Given the description of an element on the screen output the (x, y) to click on. 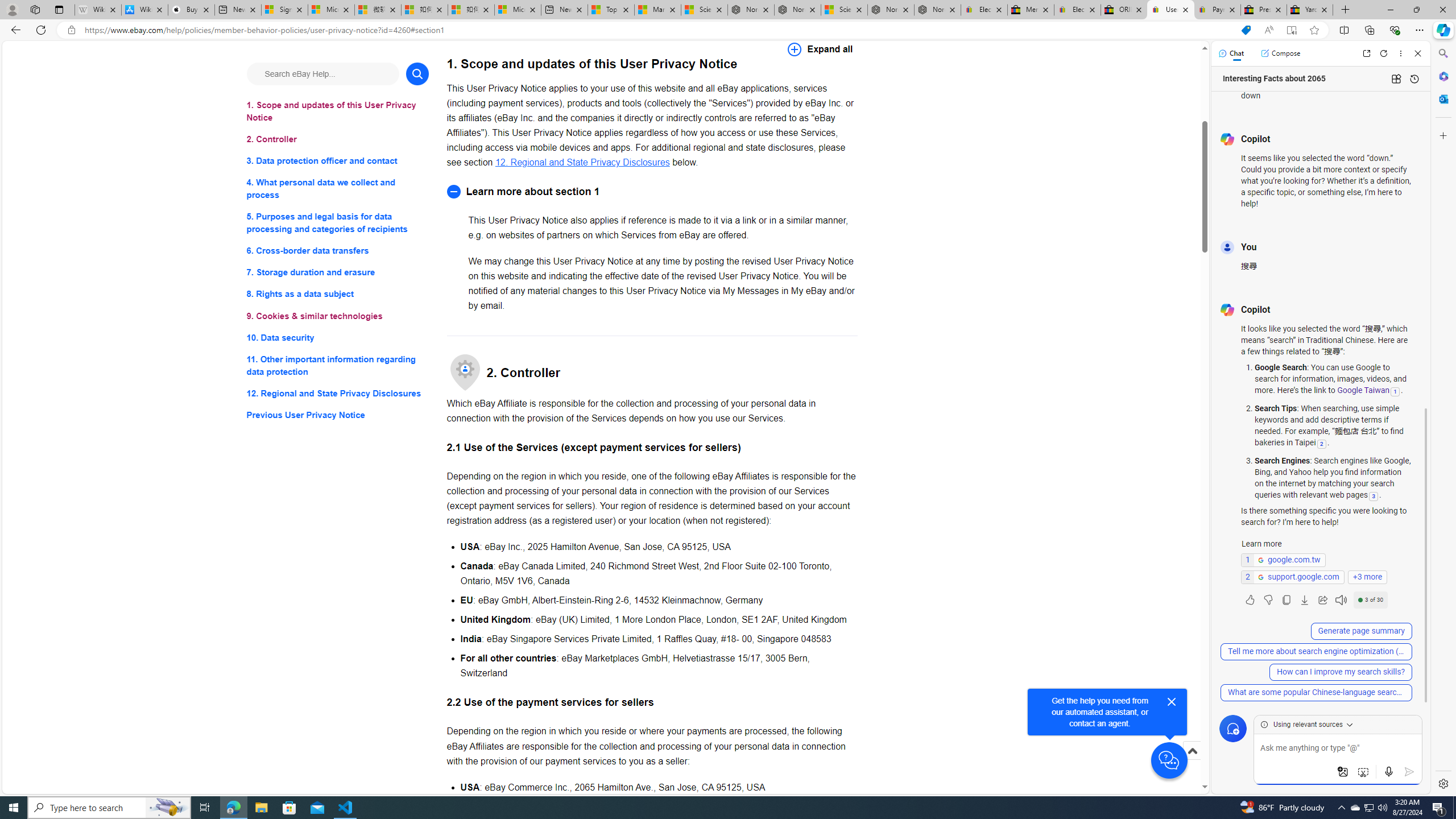
2. Controller (337, 138)
This site has coupons! Shopping in Microsoft Edge (1245, 29)
Marine life - MSN (656, 9)
